Given the description of an element on the screen output the (x, y) to click on. 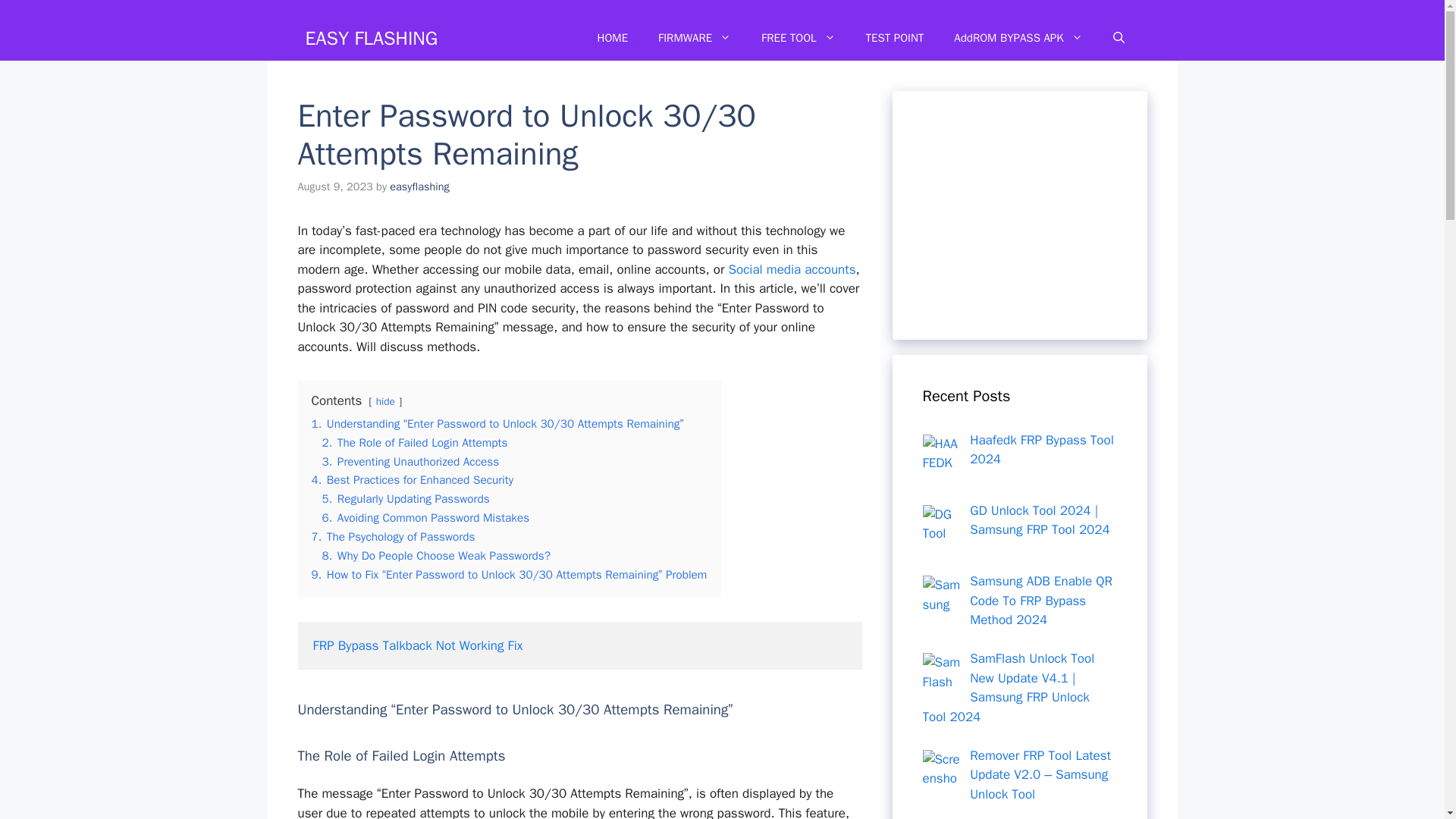
8. Why Do People Choose Weak Passwords? (435, 555)
Samsung ADB Enable QR Code To FRP Bypass Method 2024 (1040, 600)
FIRMWARE (694, 37)
Samsung ADB Enable QR Code To FRP Bypass Method 2024 (940, 594)
Social media accounts (792, 269)
FREE TOOL (797, 37)
4. Best Practices for Enhanced Security (412, 479)
3. Preventing Unauthorized Access (410, 461)
View all posts by easyflashing (419, 186)
hide (384, 400)
